Given the description of an element on the screen output the (x, y) to click on. 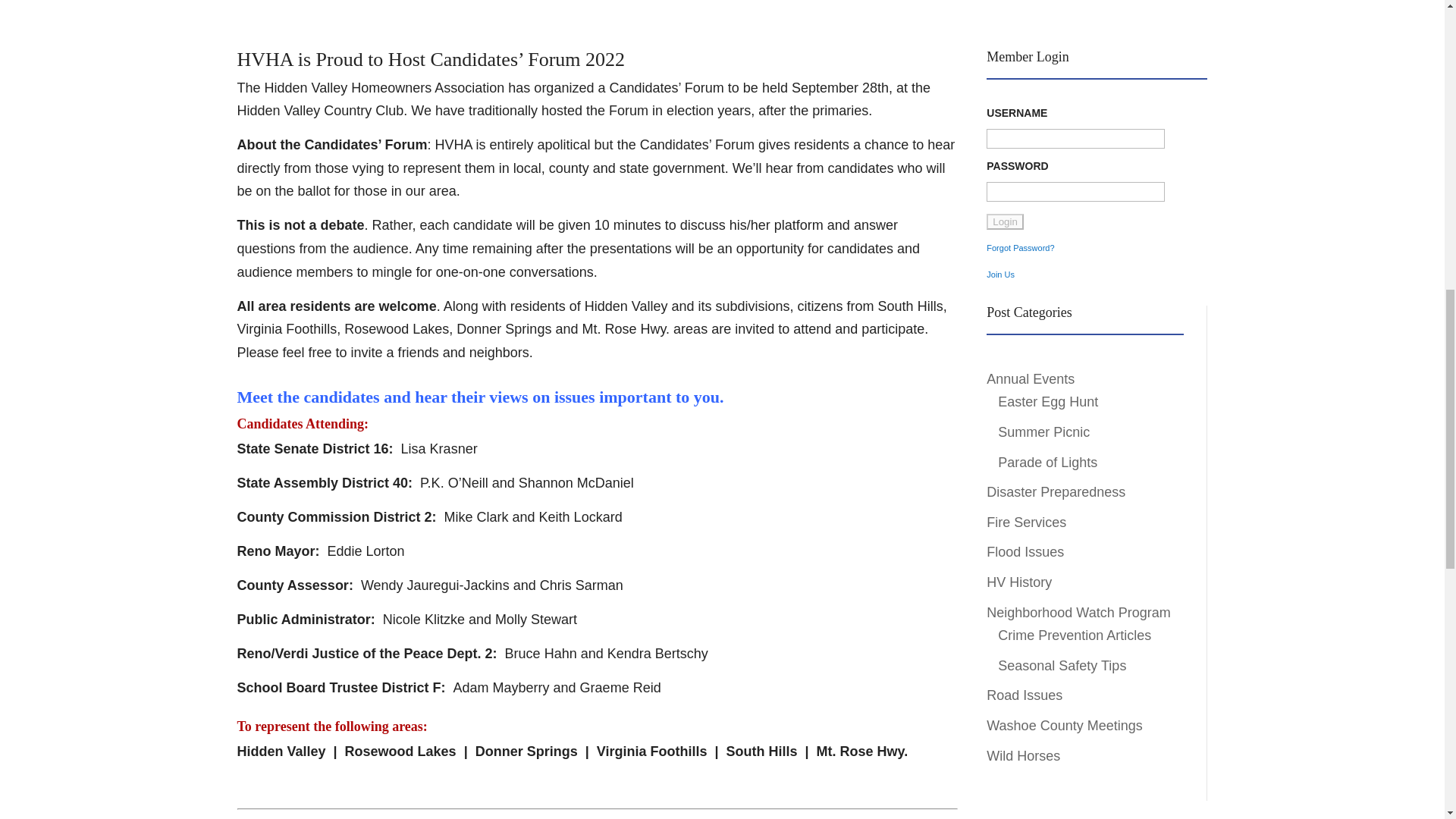
Easter Egg Hunt (1047, 401)
Parade of Lights (1047, 462)
HV History (1019, 581)
Disaster Preparedness (1056, 491)
Fire Services (1026, 522)
Login (1005, 221)
Join Us (1000, 274)
Summer Picnic (1043, 432)
Flood Issues (1025, 551)
Forgot Password? (1020, 247)
